Given the description of an element on the screen output the (x, y) to click on. 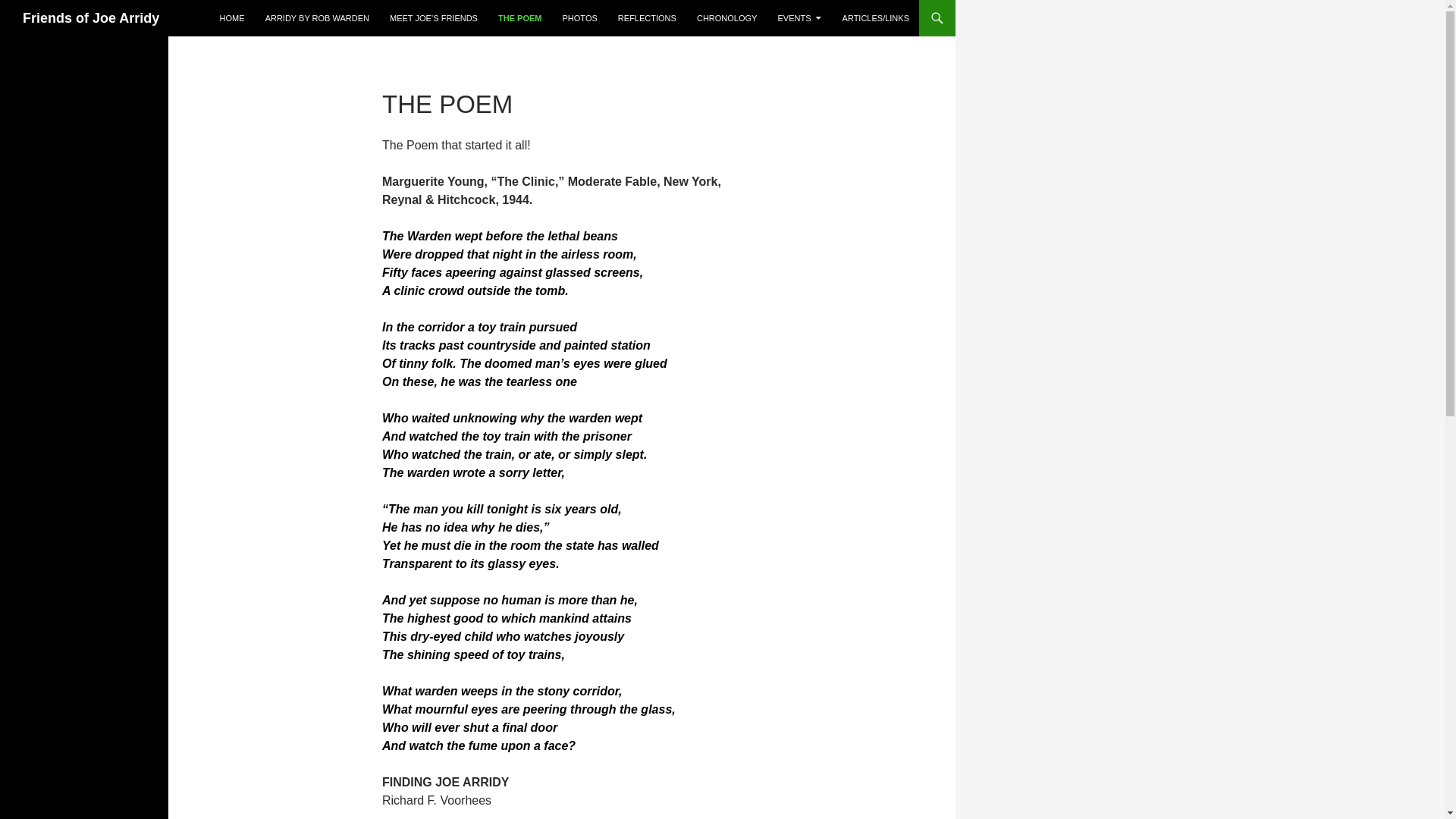
THE POEM (519, 18)
EVENTS (798, 18)
CHRONOLOGY (726, 18)
ARRIDY BY ROB WARDEN (317, 18)
HOME (232, 18)
Friends of Joe Arridy (90, 18)
PHOTOS (580, 18)
REFLECTIONS (646, 18)
